Given the description of an element on the screen output the (x, y) to click on. 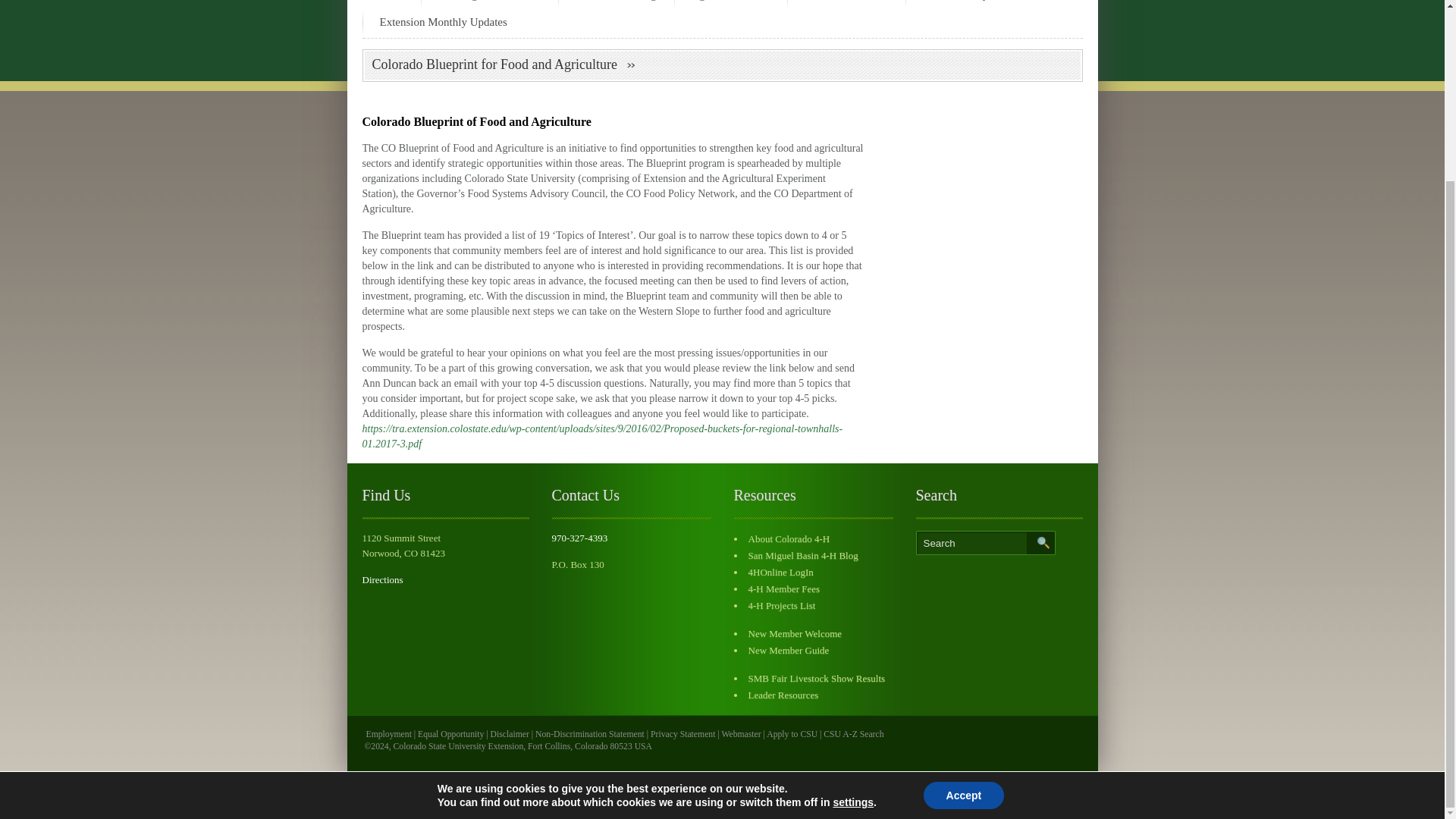
4HOnline LogIn (780, 572)
CSU A-Z Search (853, 734)
Home (389, 4)
Employment (387, 734)
SMB Fair Livestock Show Results (816, 677)
Directions (382, 579)
Privacy Statement (682, 734)
New Member Welcome (794, 633)
About Colorado 4-H (788, 538)
San Miguel Basin 4-H (489, 4)
